Given the description of an element on the screen output the (x, y) to click on. 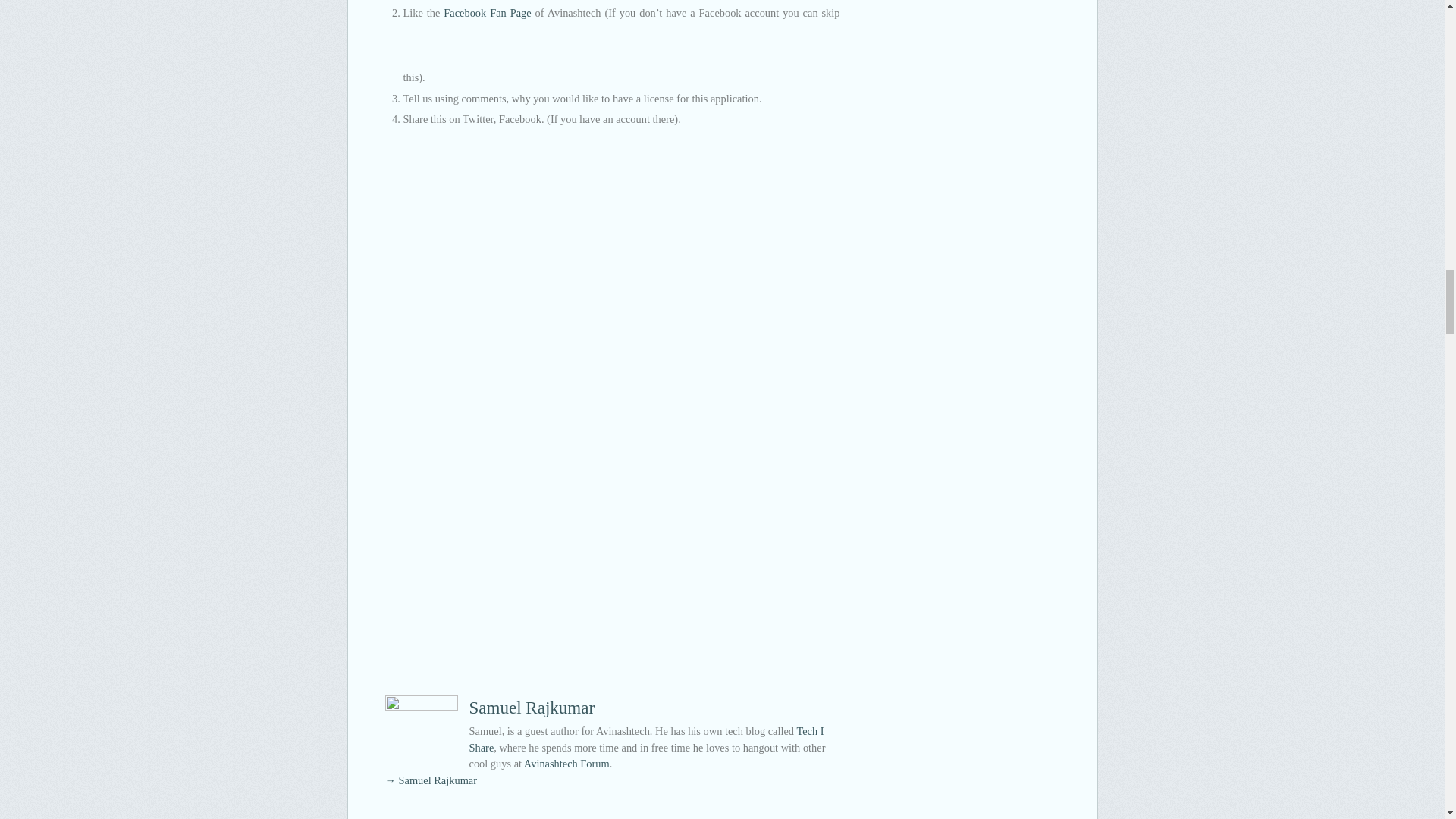
Samuel Rajkumar (531, 707)
Avinashtech Facebook Fanpage (487, 12)
Facebook Fan Page (487, 12)
Tech I Share (646, 738)
Avinashtech Forum (567, 763)
